Given the description of an element on the screen output the (x, y) to click on. 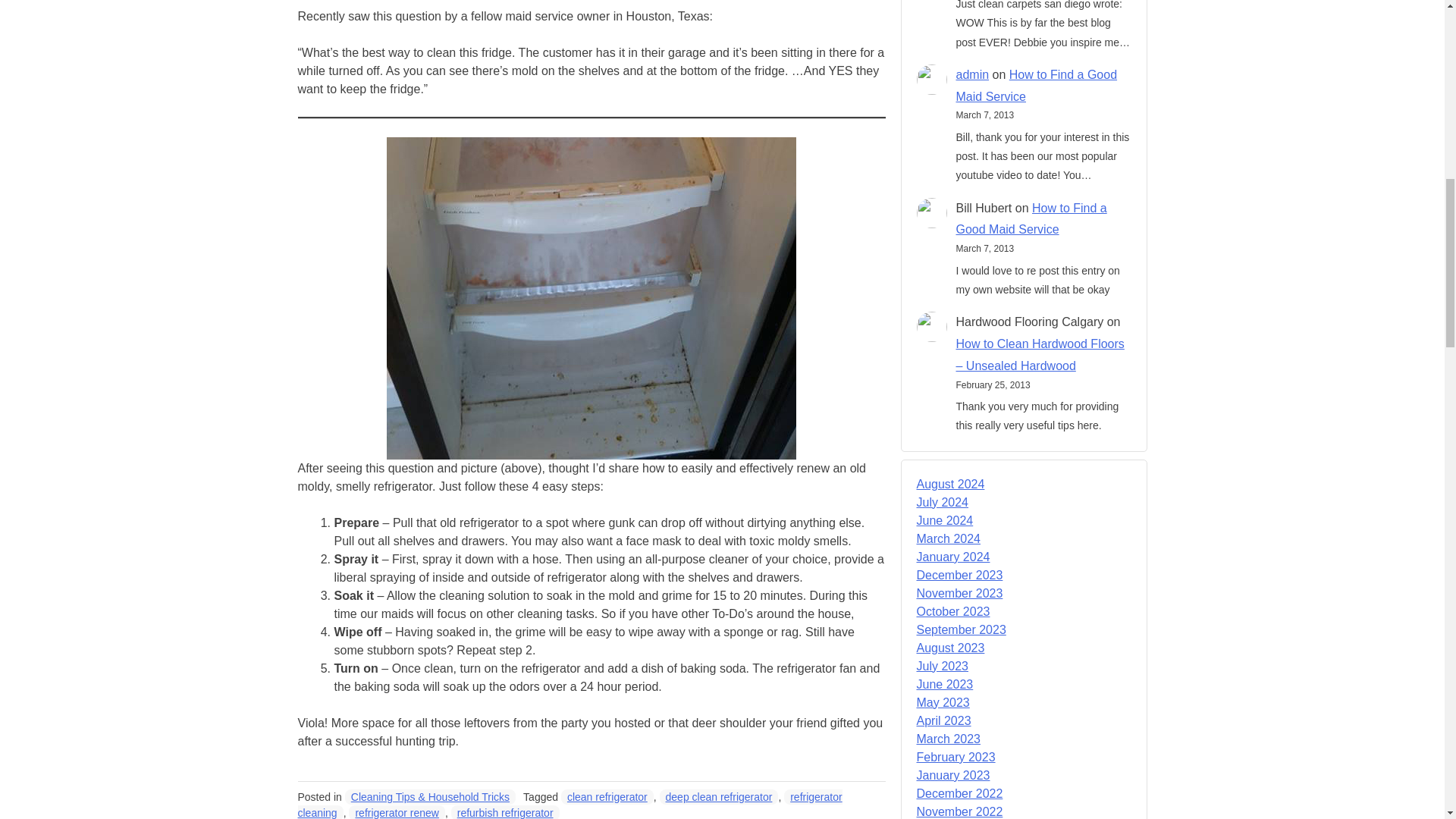
refrigerator renew (397, 812)
refurbish refrigerator (505, 812)
refrigerator cleaning (569, 804)
deep clean refrigerator (718, 796)
clean refrigerator (606, 796)
